Given the description of an element on the screen output the (x, y) to click on. 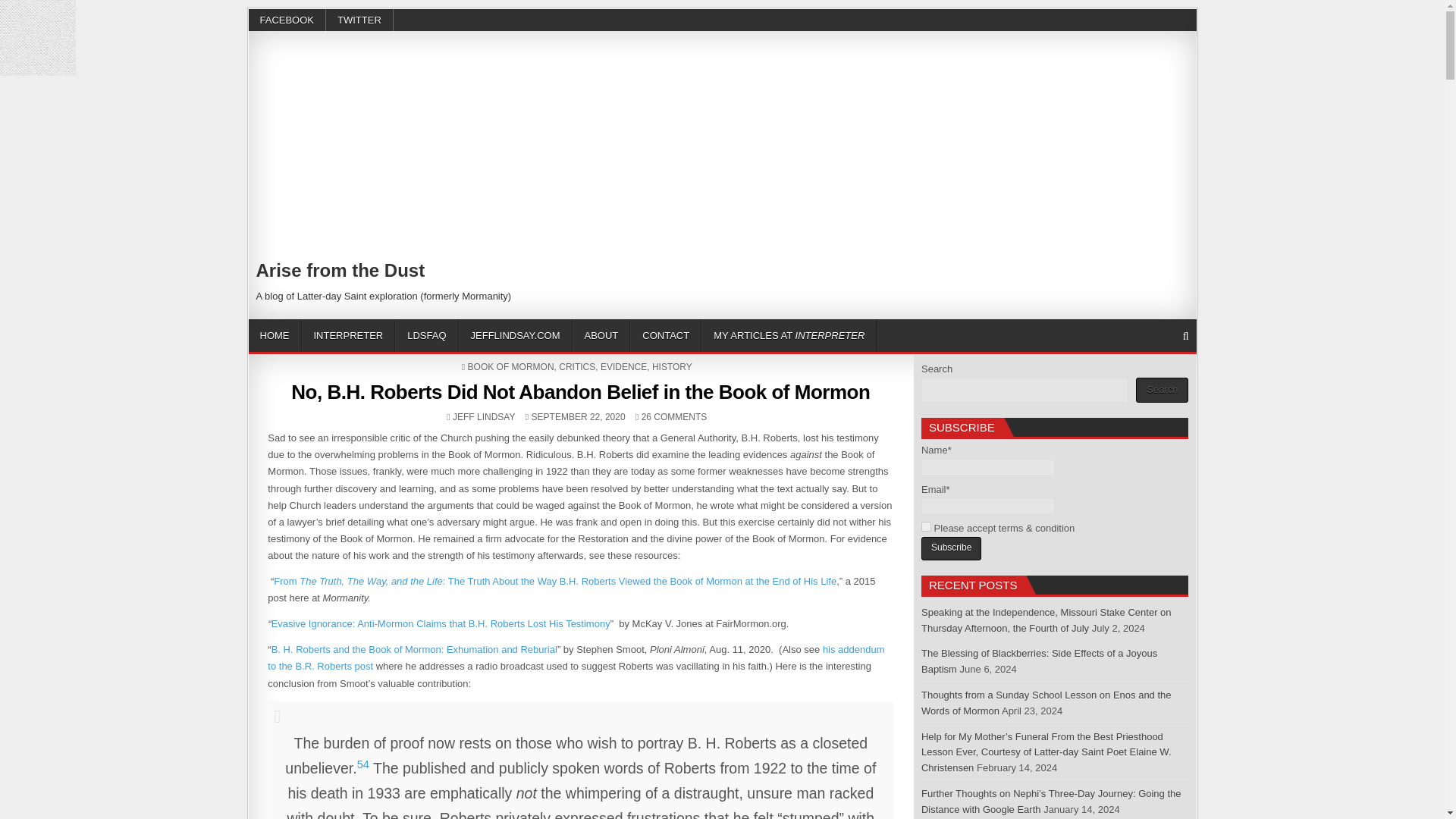
HISTORY (672, 366)
CONTACT (665, 335)
his addendum to the B.R. Roberts post (575, 657)
true (926, 526)
ABOUT (601, 335)
26 COMMENTS (674, 416)
CRITICS (577, 366)
MY ARTICLES AT INTERPRETER (788, 335)
